Given the description of an element on the screen output the (x, y) to click on. 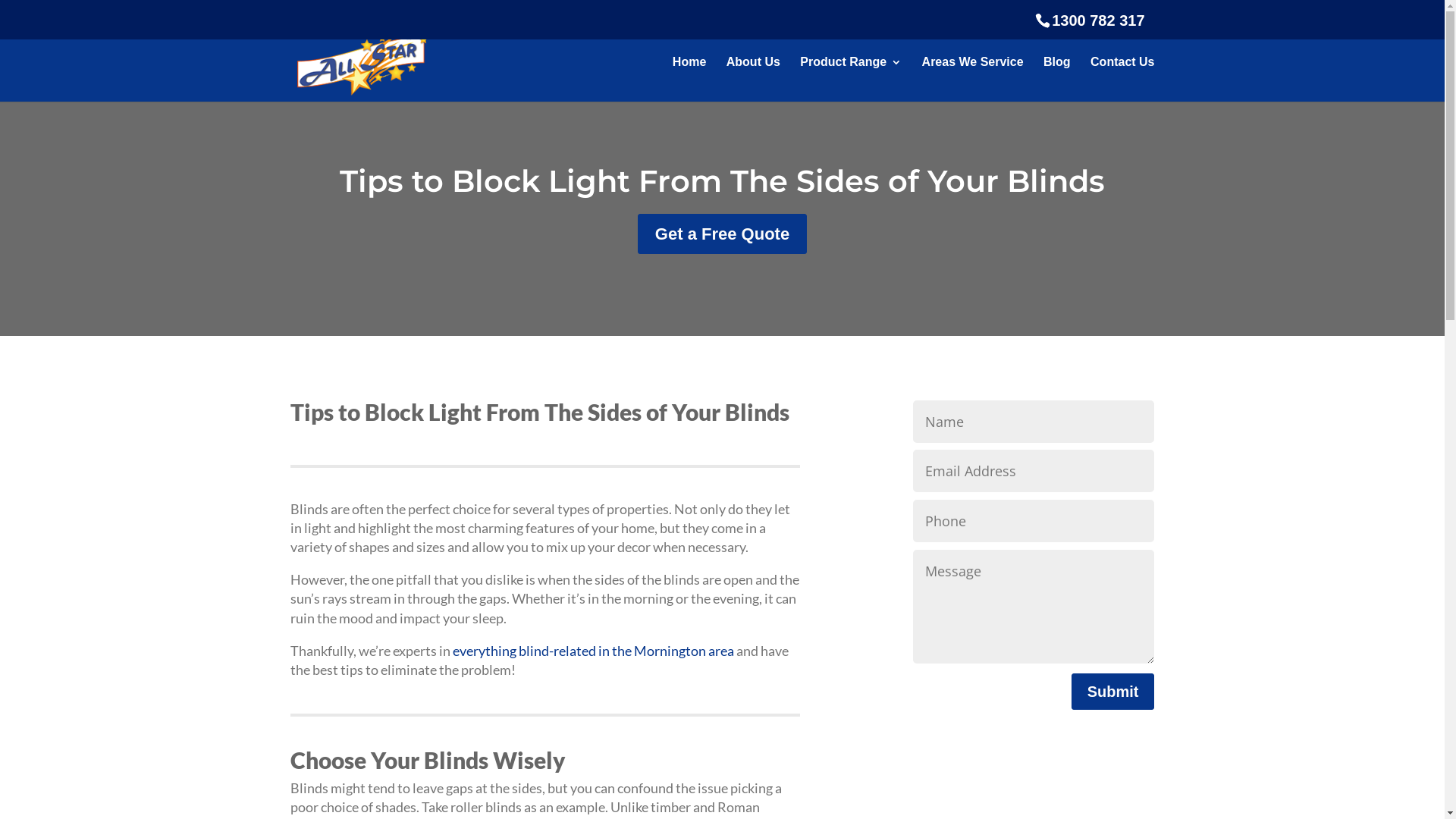
Submit Element type: text (1112, 691)
Contact Us Element type: text (1122, 78)
Areas We Service Element type: text (972, 78)
About Us Element type: text (753, 78)
everything blind-related in the Mornington area Element type: text (592, 650)
Home Element type: text (689, 78)
Product Range Element type: text (850, 78)
Get a Free Quote Element type: text (721, 233)
Blog Element type: text (1056, 78)
